Given the description of an element on the screen output the (x, y) to click on. 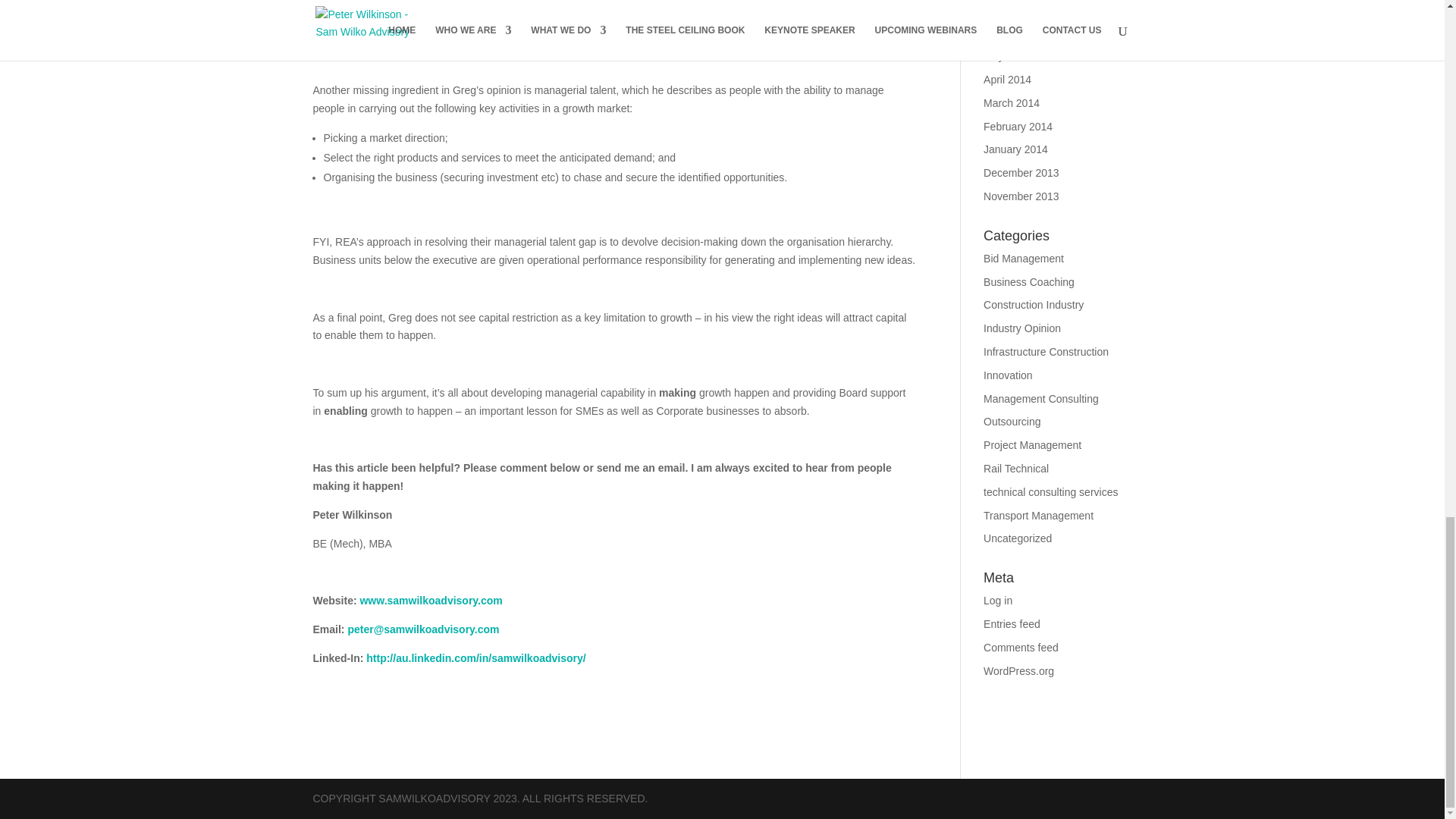
www.samwilkoadvisory.com (430, 600)
Peter Wilkinson (475, 657)
SamWilko Advisory (430, 600)
